Given the description of an element on the screen output the (x, y) to click on. 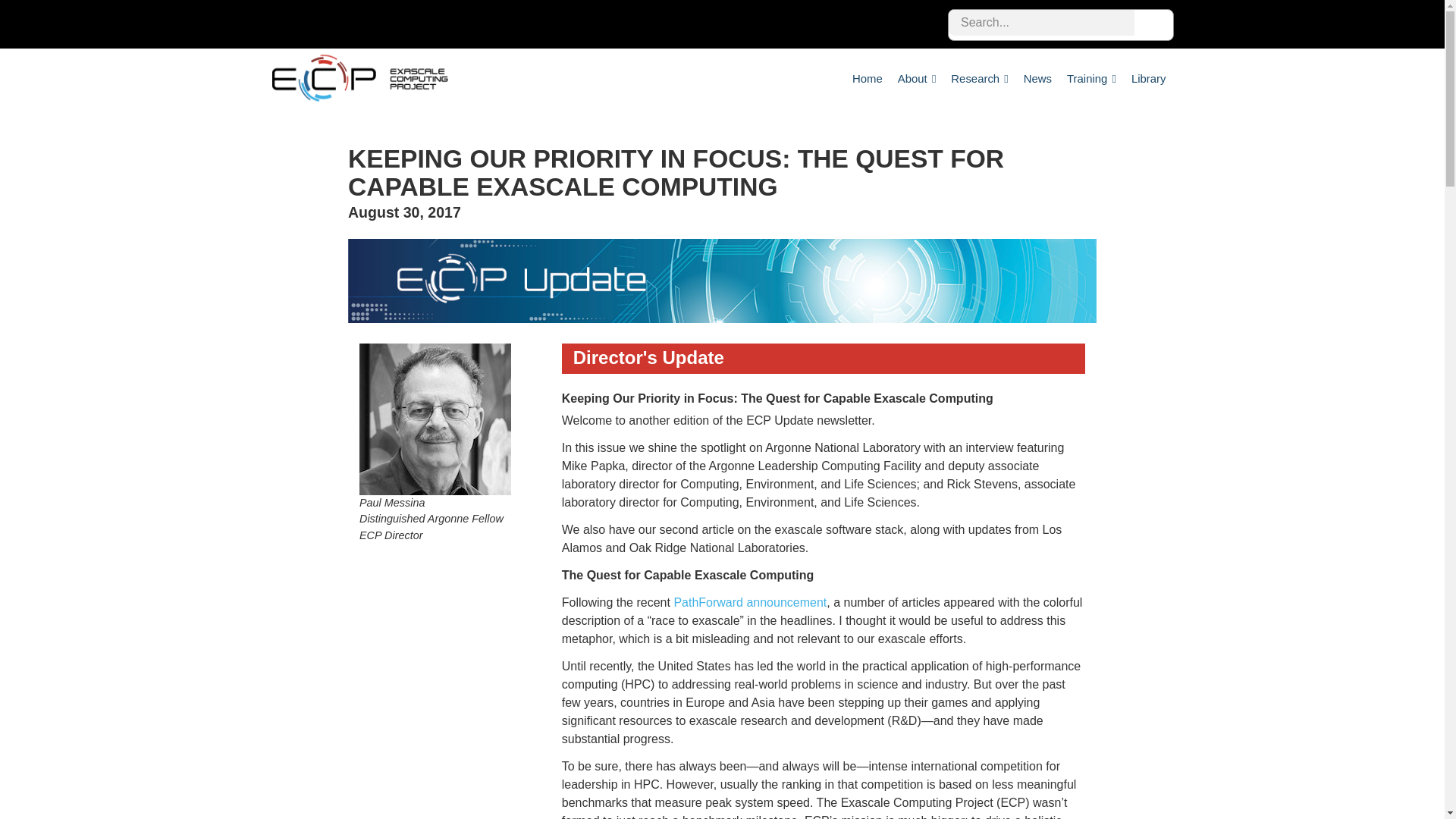
PathForward announcement (749, 602)
Training (1091, 78)
Search (1152, 24)
Research (978, 78)
Training (1091, 78)
Search (1152, 24)
Search (1152, 24)
Research (978, 78)
